Given the description of an element on the screen output the (x, y) to click on. 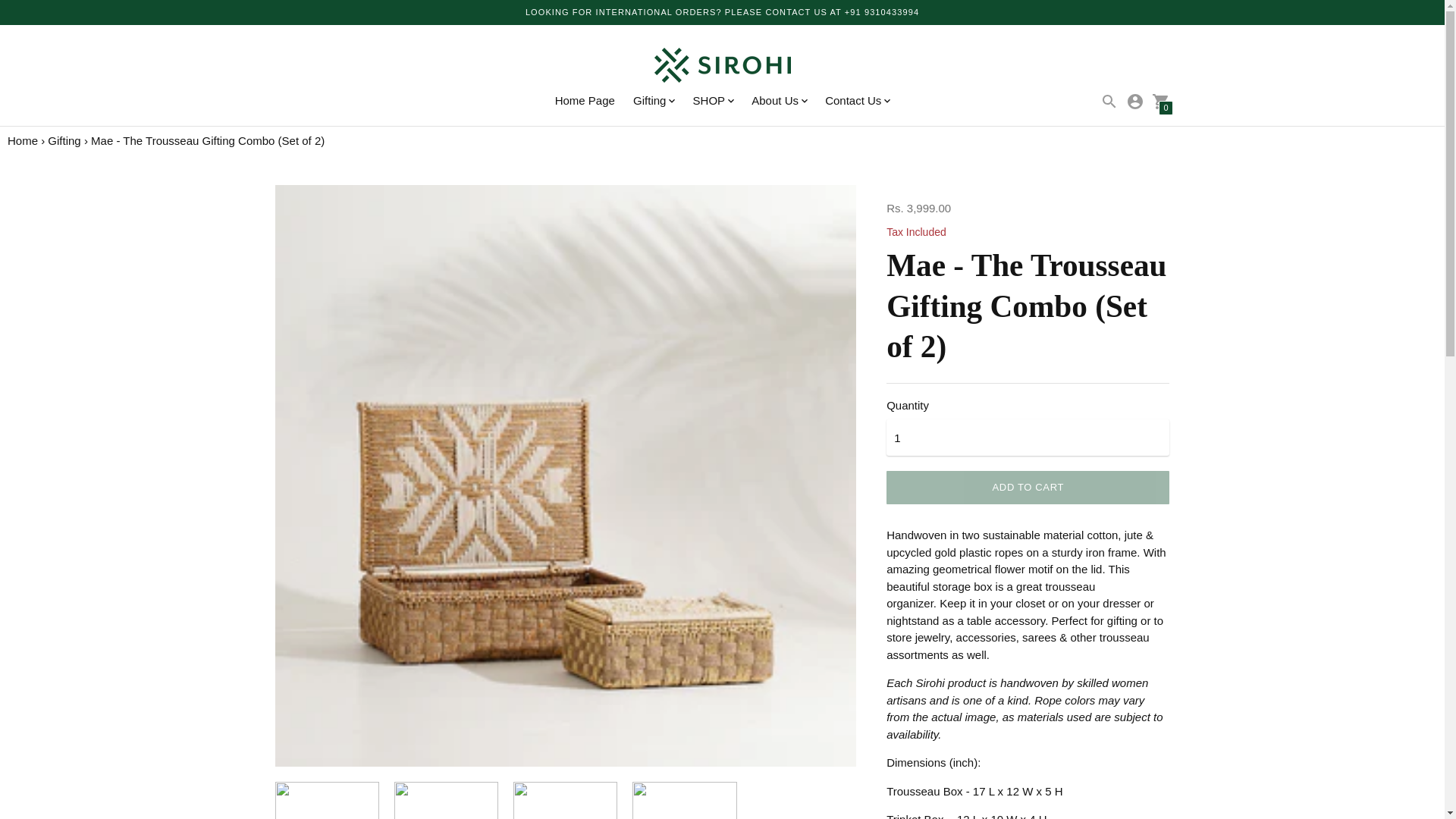
SHOP (713, 100)
Home (22, 140)
Gifting (653, 100)
1 (1027, 437)
Home Page (584, 100)
